Given the description of an element on the screen output the (x, y) to click on. 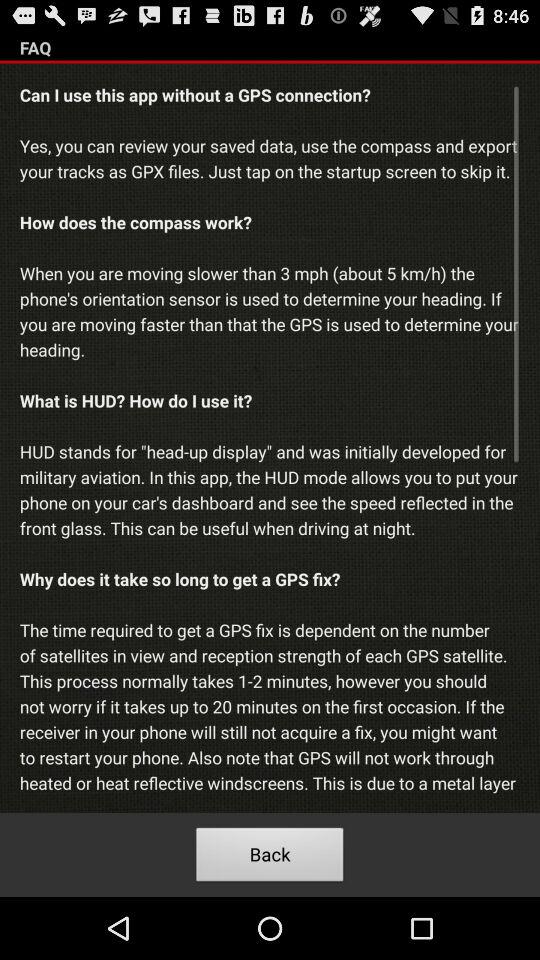
open the app below the can i use (269, 857)
